Given the description of an element on the screen output the (x, y) to click on. 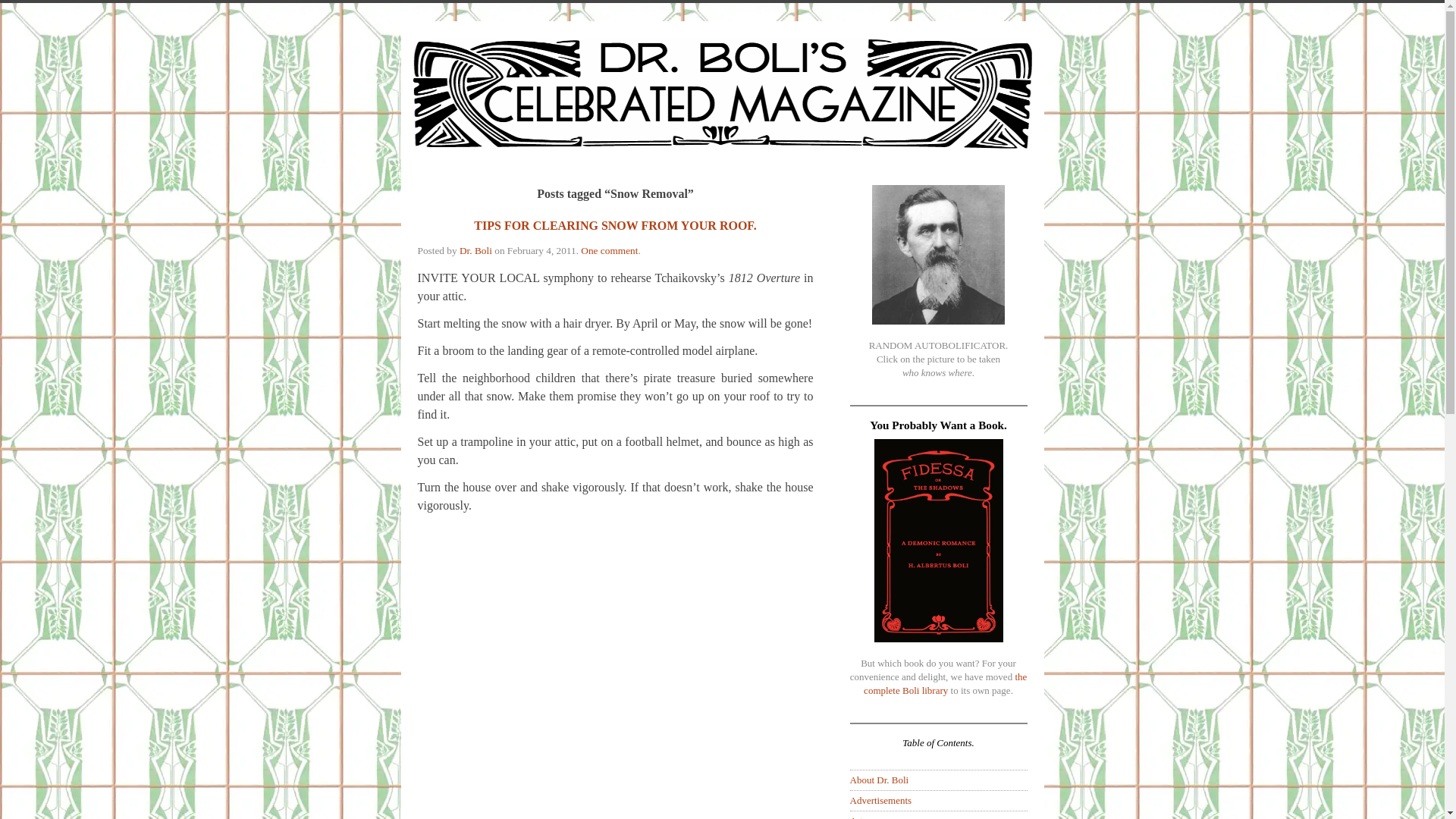
Dr. Boli (476, 250)
the complete Boli library (944, 683)
Art (854, 816)
About Dr. Boli (878, 779)
Go to home page (721, 103)
Posts by Dr. Boli (476, 250)
Advertisements (879, 799)
TIPS FOR CLEARING SNOW FROM YOUR ROOF. (614, 225)
One comment (608, 250)
